Given the description of an element on the screen output the (x, y) to click on. 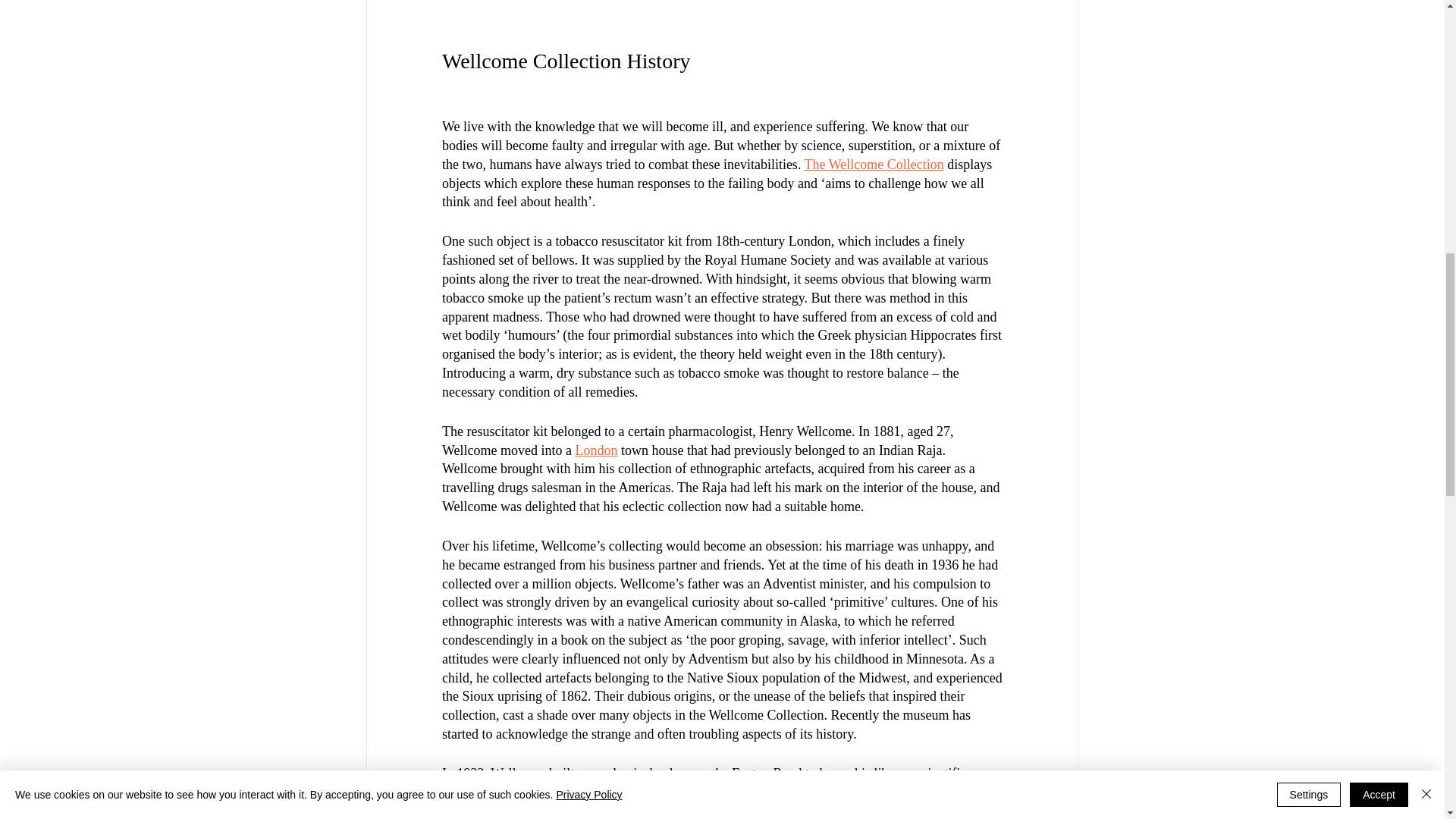
London (596, 450)
The Wellcome Collection (873, 164)
